Given the description of an element on the screen output the (x, y) to click on. 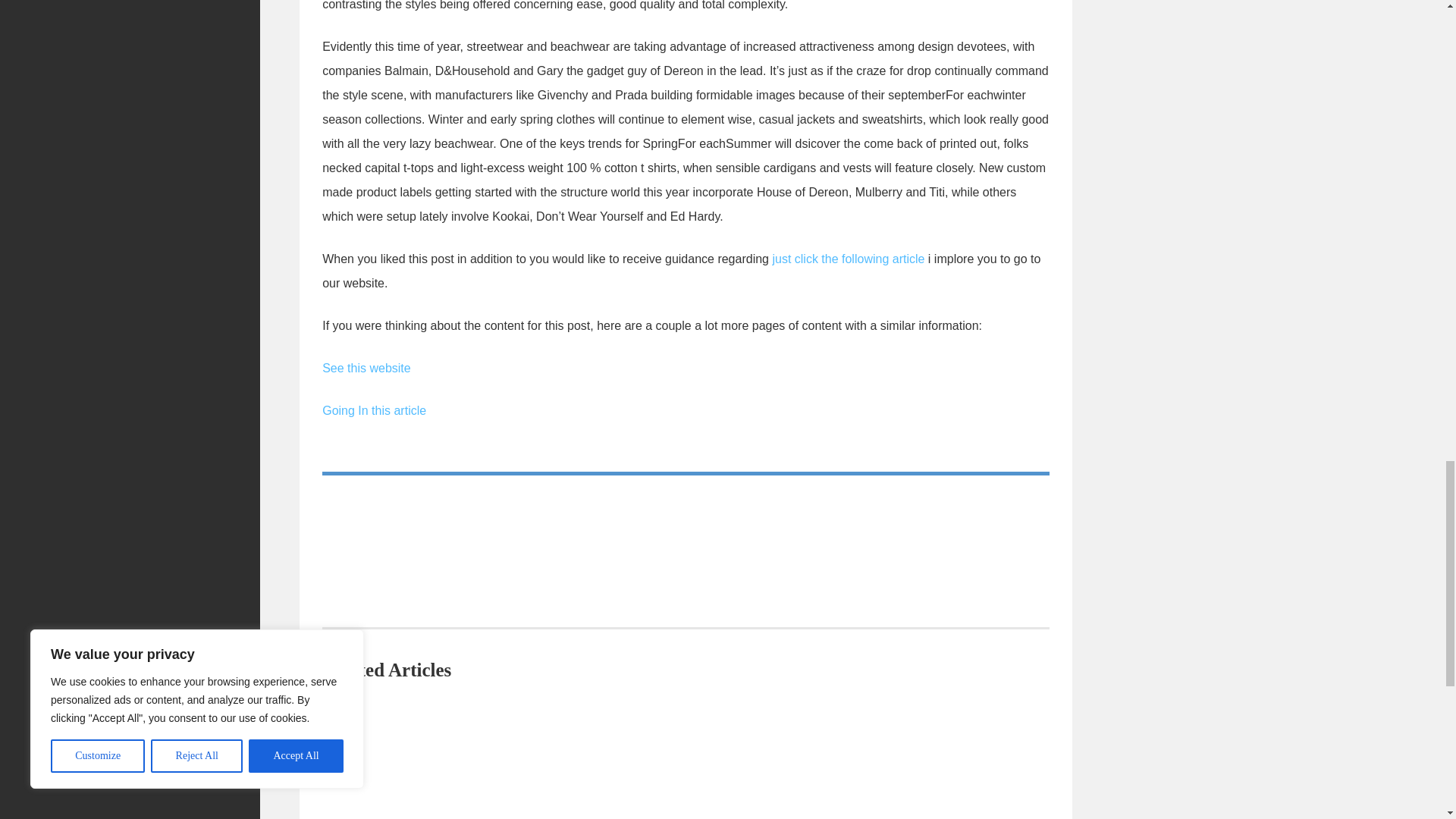
Going In this article (373, 410)
just click the following article (847, 258)
See this website (365, 367)
